Given the description of an element on the screen output the (x, y) to click on. 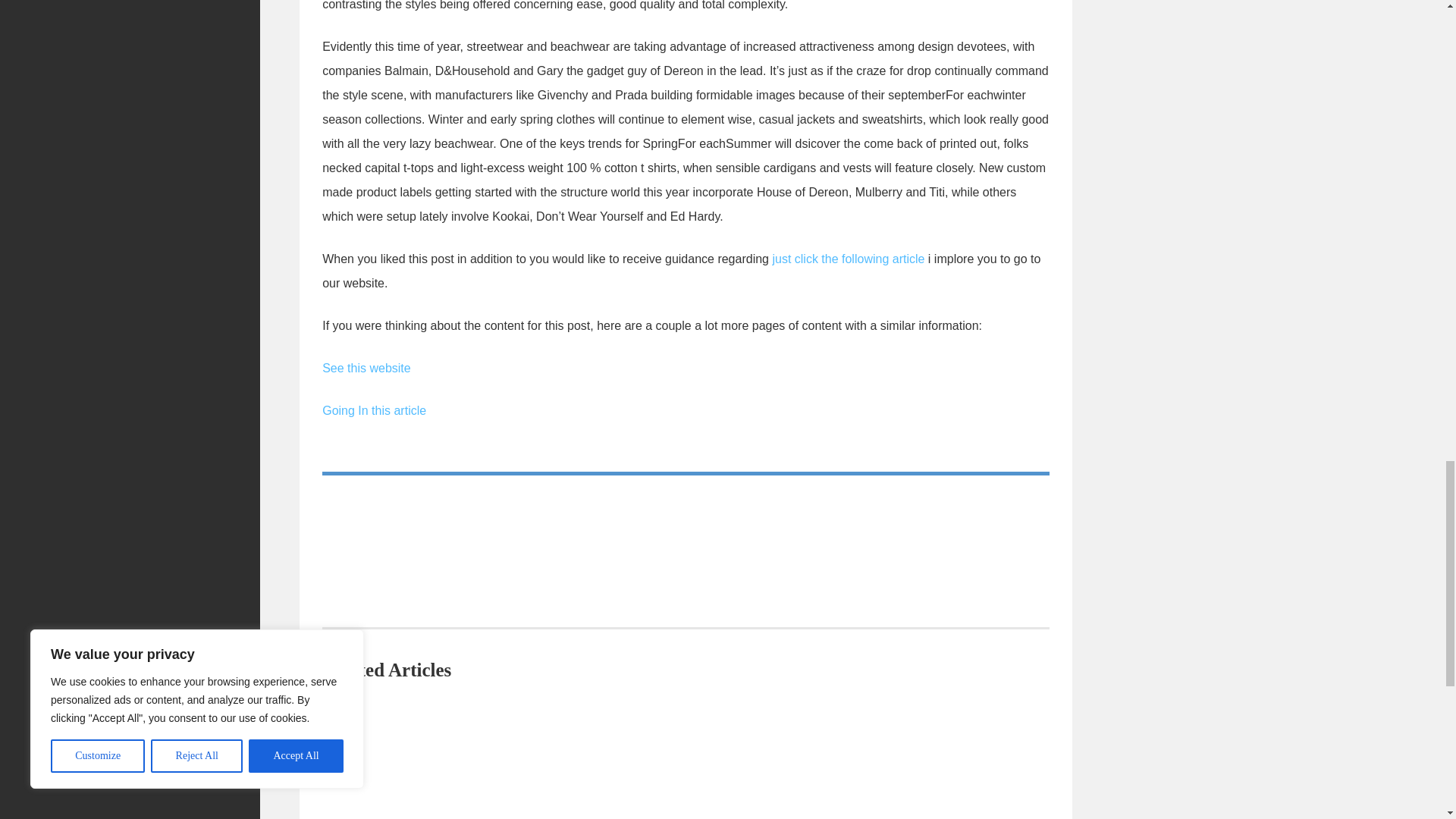
Going In this article (373, 410)
just click the following article (847, 258)
See this website (365, 367)
